Given the description of an element on the screen output the (x, y) to click on. 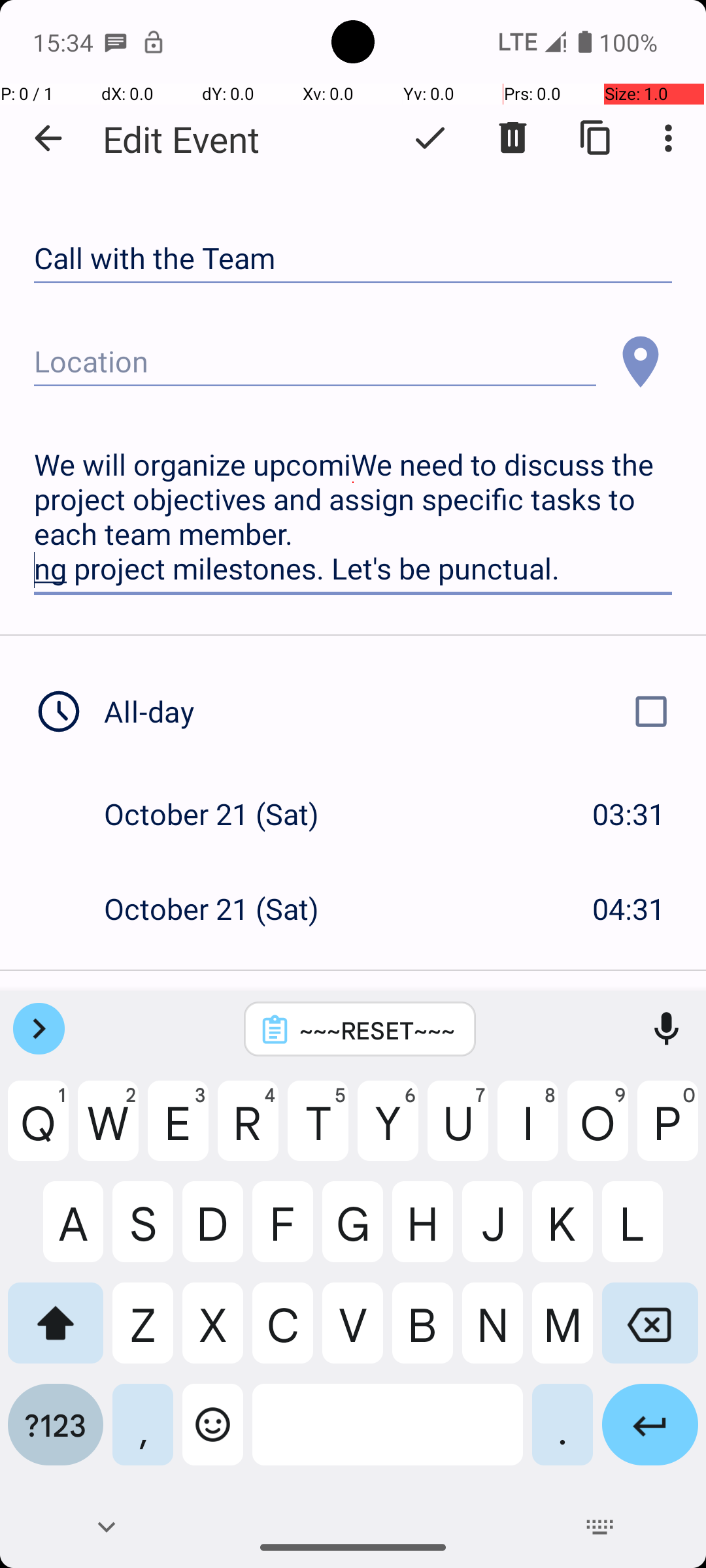
We will organize upcomiWe need to discuss the project objectives and assign specific tasks to each team member.
ng project milestones. Let's be punctual. Element type: android.widget.EditText (352, 516)
October 21 (Sat) Element type: android.widget.TextView (224, 813)
03:31 Element type: android.widget.TextView (628, 813)
04:31 Element type: android.widget.TextView (628, 908)
